Given the description of an element on the screen output the (x, y) to click on. 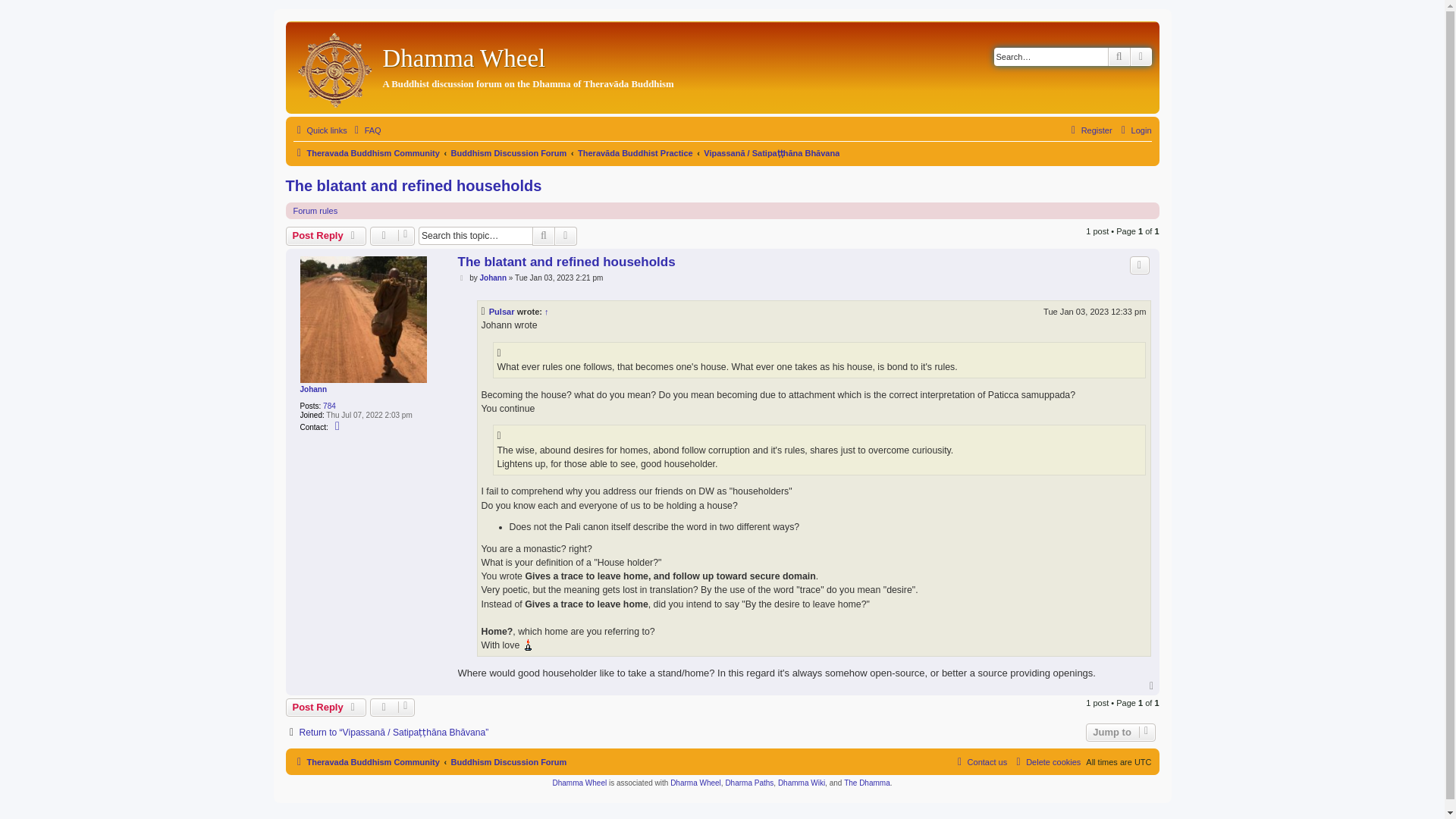
Contact Johann (338, 426)
Topic tools (391, 235)
Search (543, 235)
Post Reply (325, 235)
The blatant and refined households (566, 261)
Search (1119, 56)
Post (462, 277)
Post a reply (325, 235)
Frequently Asked Questions (365, 130)
The blatant and refined households (413, 185)
